Given the description of an element on the screen output the (x, y) to click on. 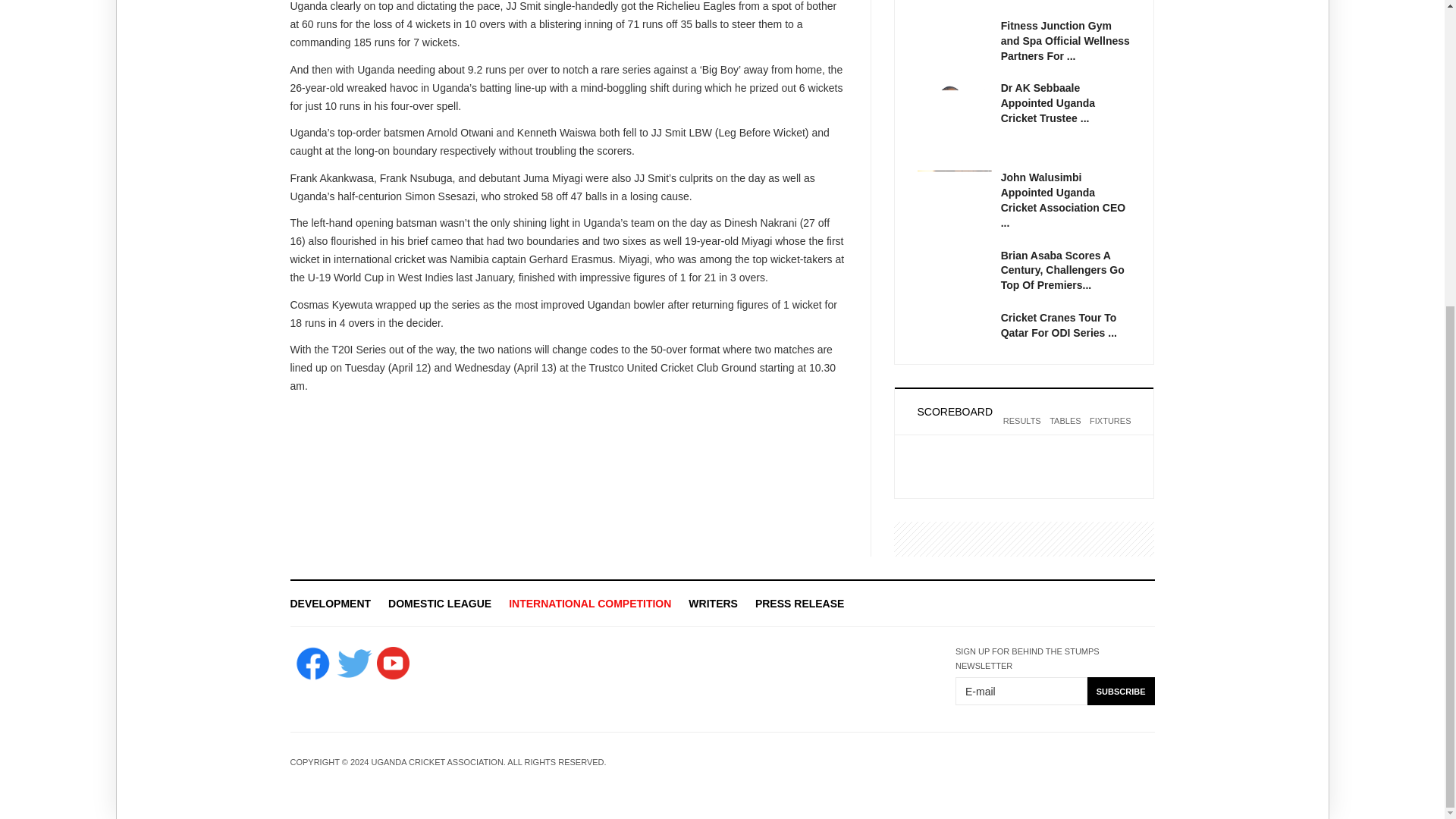
Results (1022, 429)
Tables (1064, 429)
E-mail (1021, 691)
Fixtures (1110, 429)
Subscribe (1120, 691)
